Given the description of an element on the screen output the (x, y) to click on. 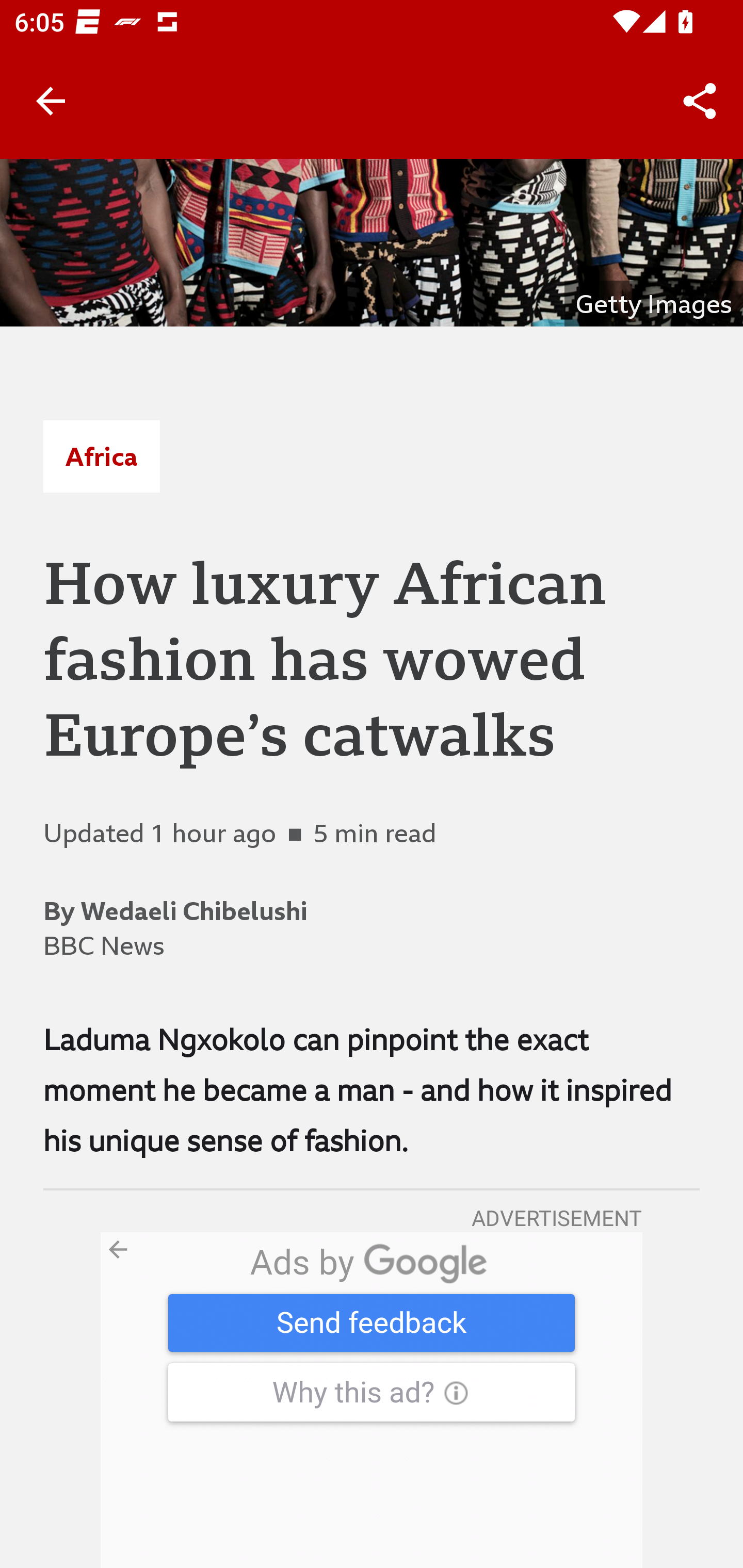
Back (50, 101)
Share (699, 101)
Africa (101, 456)
Advertisement (371, 1400)
